Given the description of an element on the screen output the (x, y) to click on. 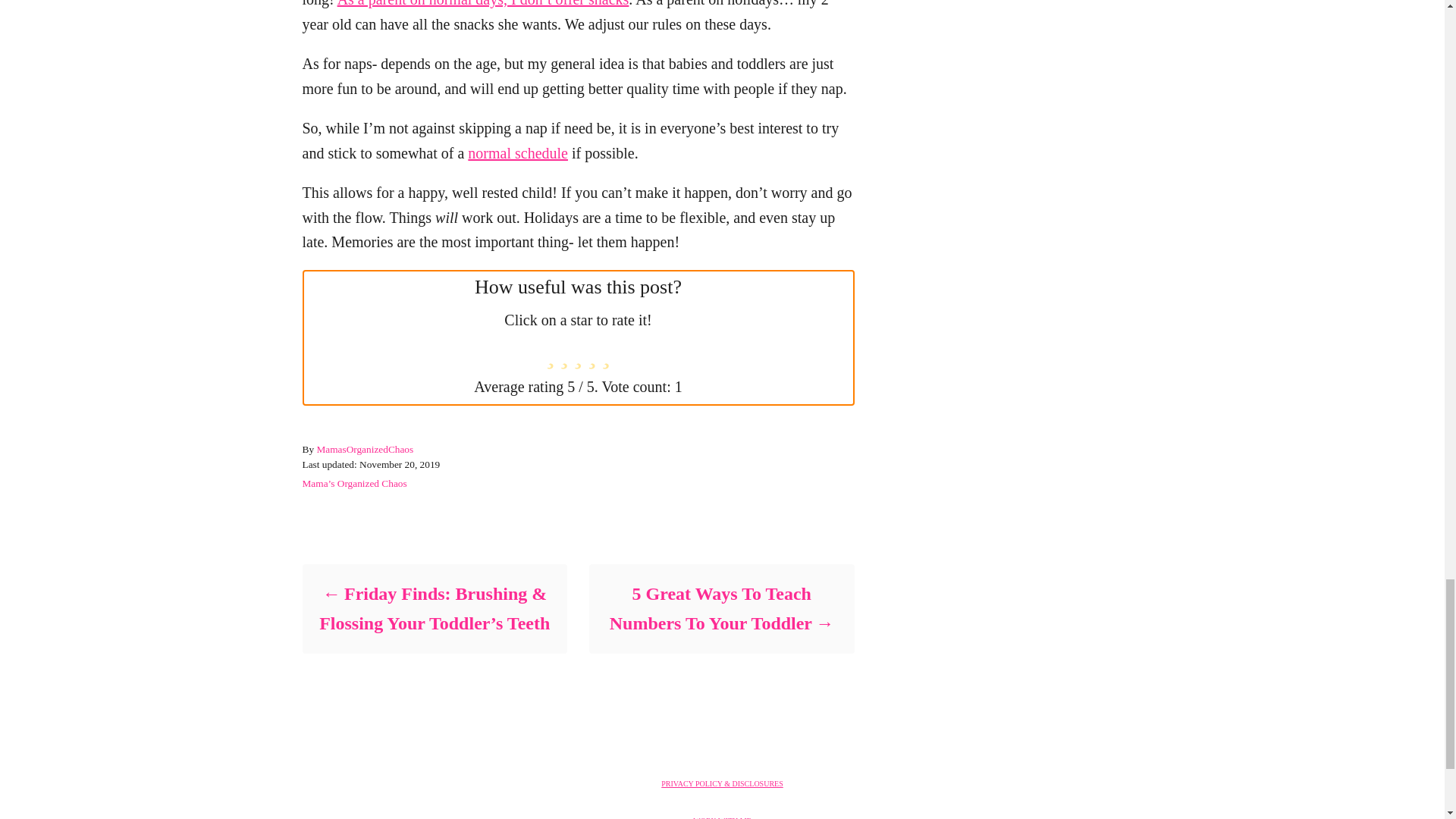
5 Great Ways To Teach Numbers To Your Toddler (721, 608)
normal schedule (517, 152)
MamasOrganizedChaos (364, 449)
